Given the description of an element on the screen output the (x, y) to click on. 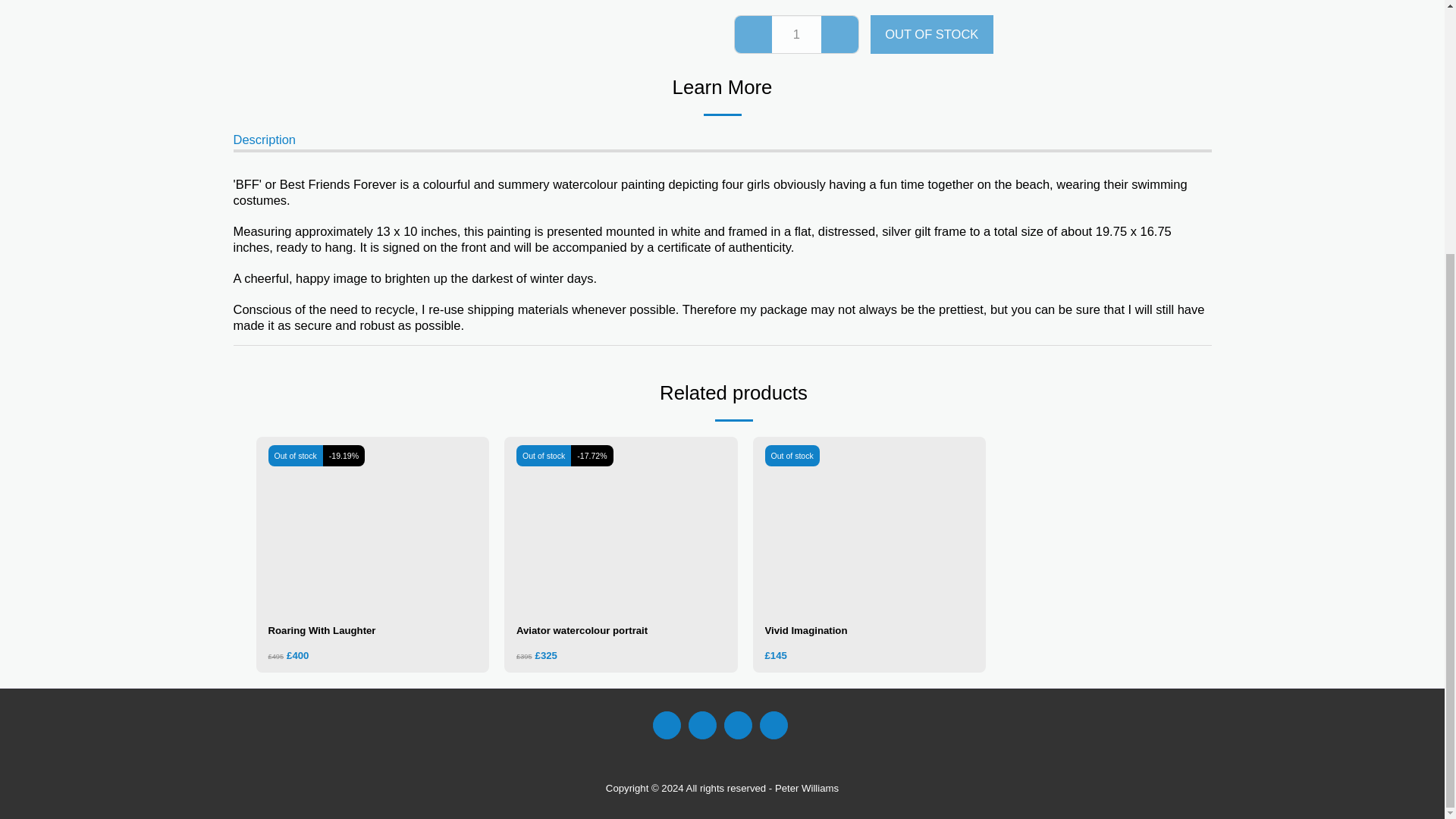
1 (796, 33)
This product is out of stock. (796, 34)
